Given the description of an element on the screen output the (x, y) to click on. 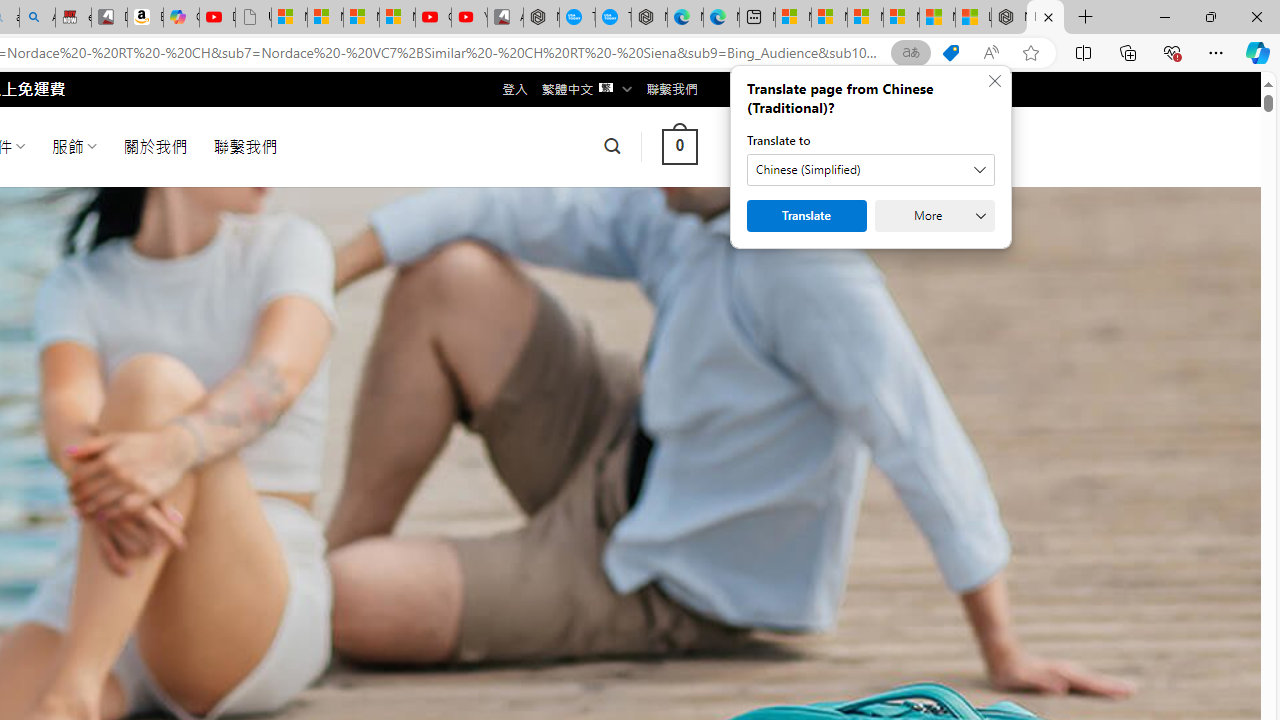
YouTube Kids - An App Created for Kids to Explore Content (469, 17)
Copilot (180, 17)
